Given the description of an element on the screen output the (x, y) to click on. 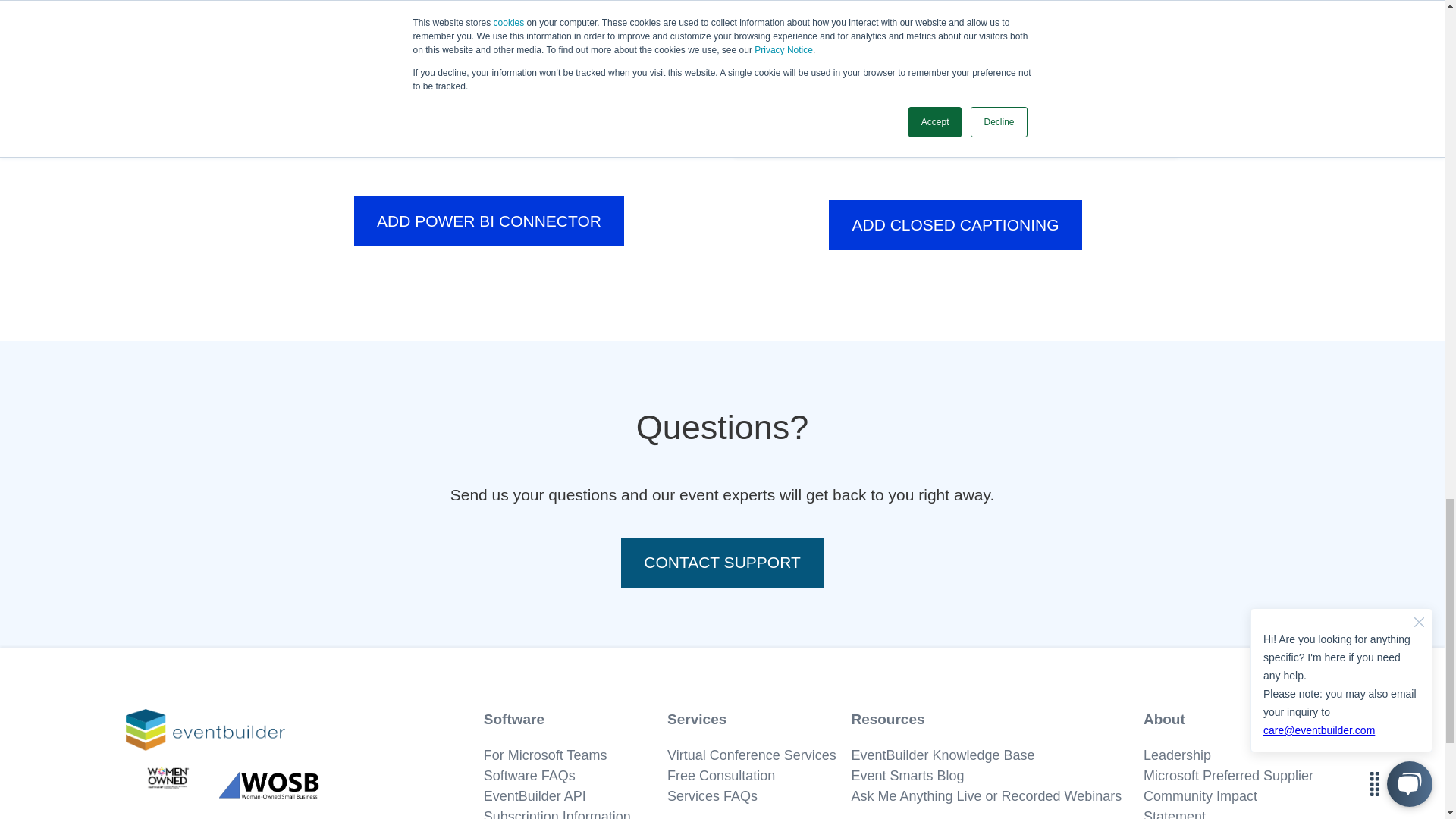
Add Power BI Connector (488, 221)
Add Closed Captioning (954, 224)
Contact Support (722, 562)
